Given the description of an element on the screen output the (x, y) to click on. 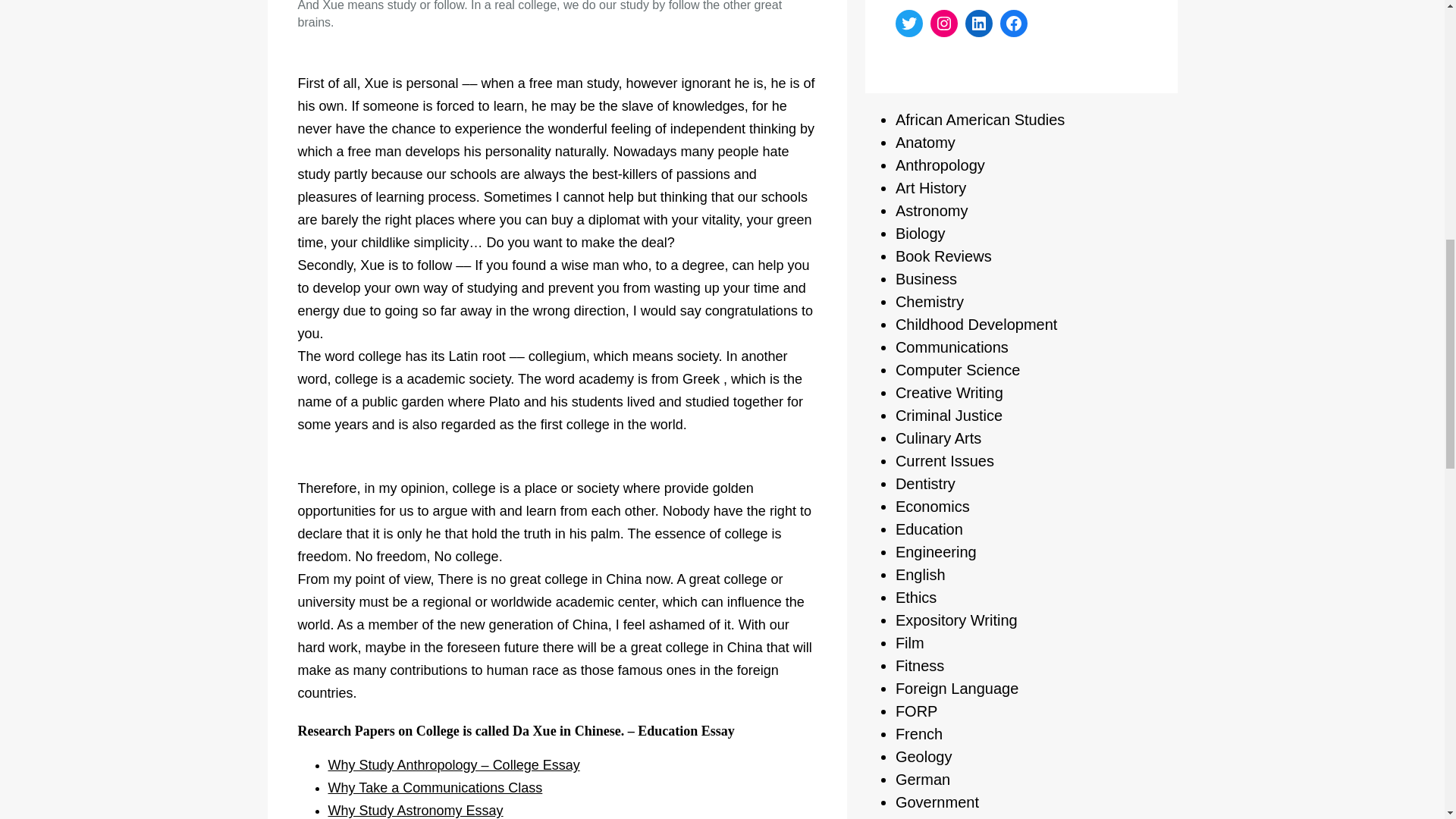
Criminal Justice (949, 415)
Anatomy (925, 142)
Biology (919, 233)
Business (925, 279)
Why Take a Communications Class (434, 787)
Why Study Astronomy Essay (414, 810)
Art History (930, 187)
African American Studies (979, 119)
Childhood Development (976, 324)
Instagram (944, 22)
Facebook (1013, 22)
Astronomy (931, 210)
Book Reviews (943, 256)
Computer Science (957, 369)
LinkedIn (978, 22)
